Given the description of an element on the screen output the (x, y) to click on. 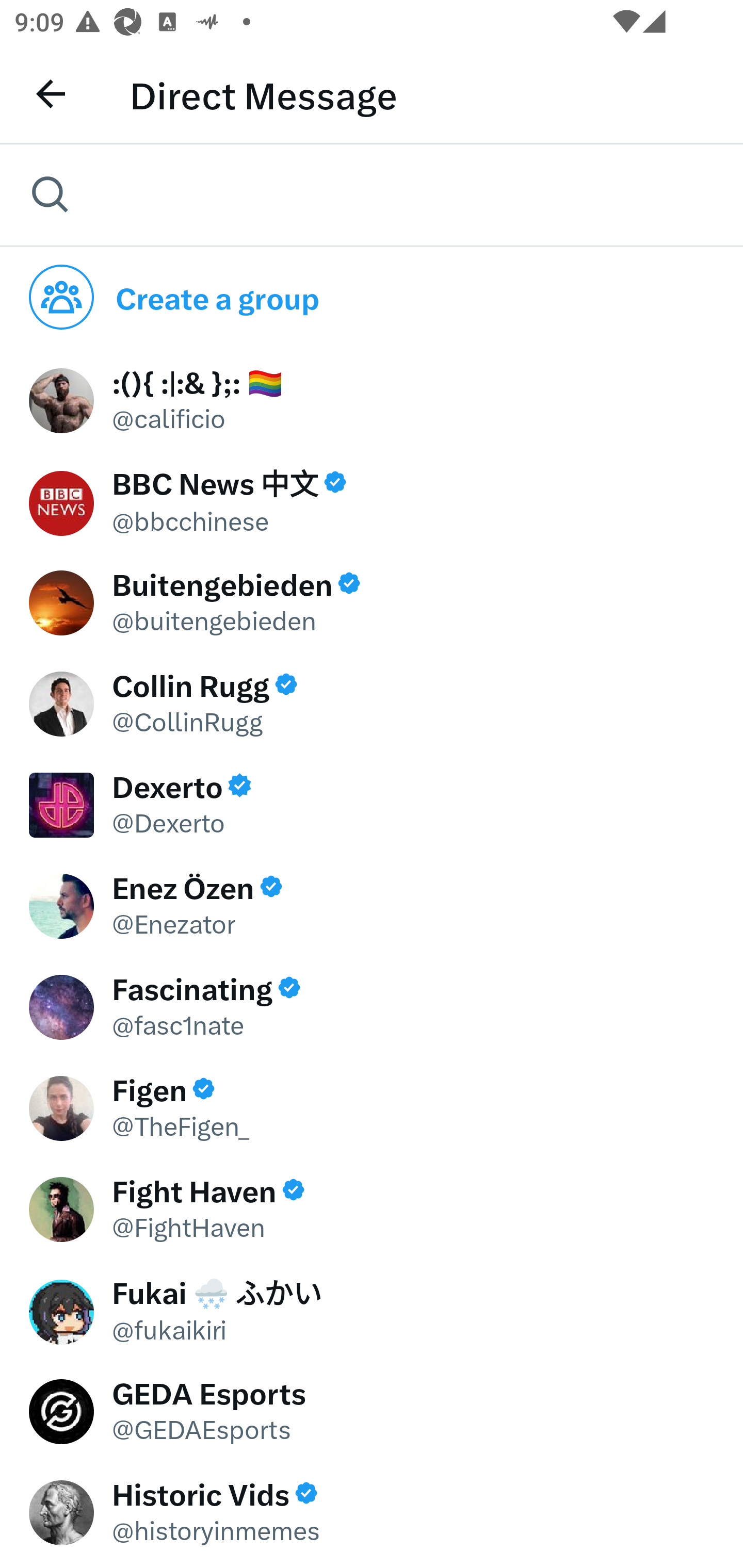
Navigate up (46, 93)
Create a group (371, 297)
Profile image for Figen Figen Verified @TheFigen_ (371, 1106)
